Given the description of an element on the screen output the (x, y) to click on. 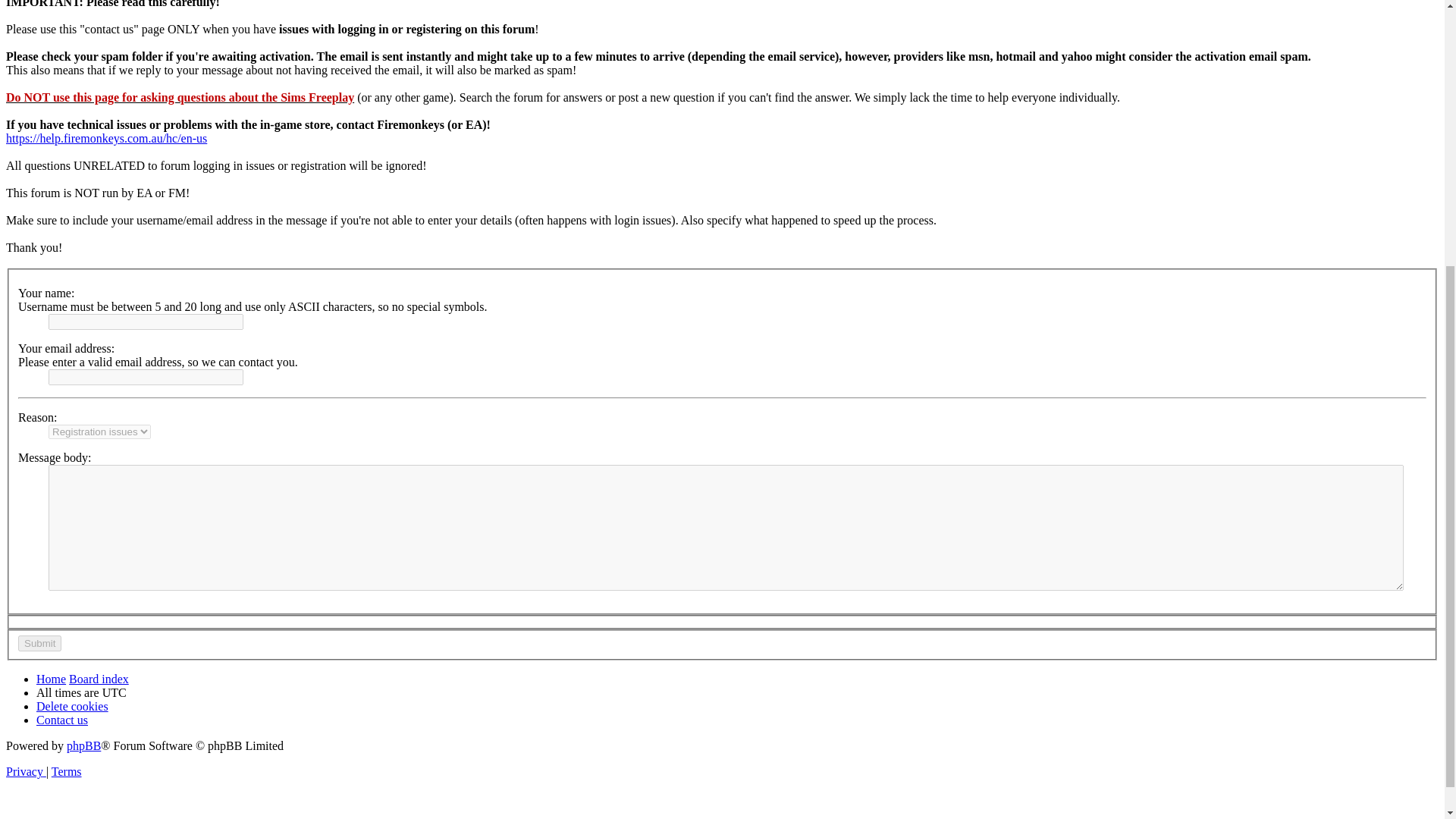
Privacy (25, 771)
Terms (65, 771)
Privacy (25, 771)
Submit (39, 643)
UTC (113, 692)
Contact us (61, 719)
Home (50, 678)
Delete cookies (71, 706)
Terms (65, 771)
Submit (39, 643)
Board index (98, 678)
phpBB (83, 745)
